Given the description of an element on the screen output the (x, y) to click on. 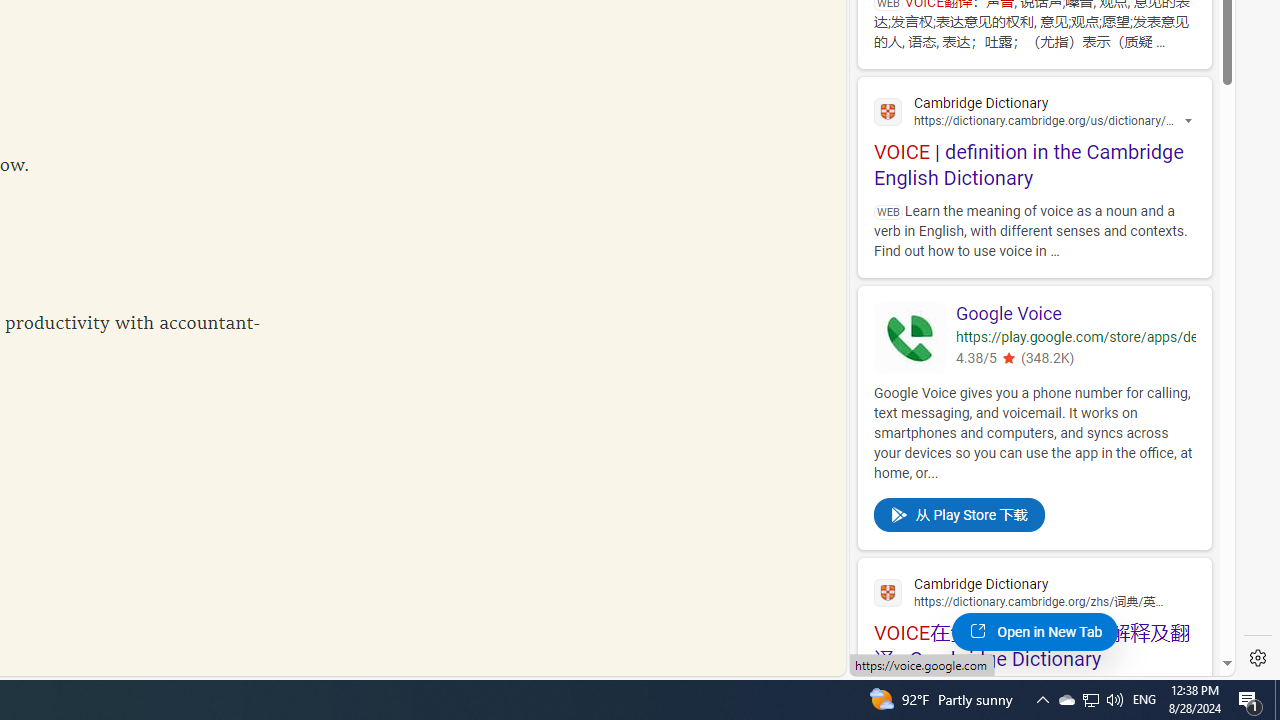
Cambridge Dictionary (1034, 591)
4.38/5(348.2K) (1075, 359)
VOICE | definition in the Cambridge English Dictionary (1034, 139)
Settings (1258, 658)
Actions for this site (1190, 121)
4.380543231964111 (1008, 358)
Google Voice (1075, 314)
Global web icon (888, 592)
Google Voice (1075, 313)
